Given the description of an element on the screen output the (x, y) to click on. 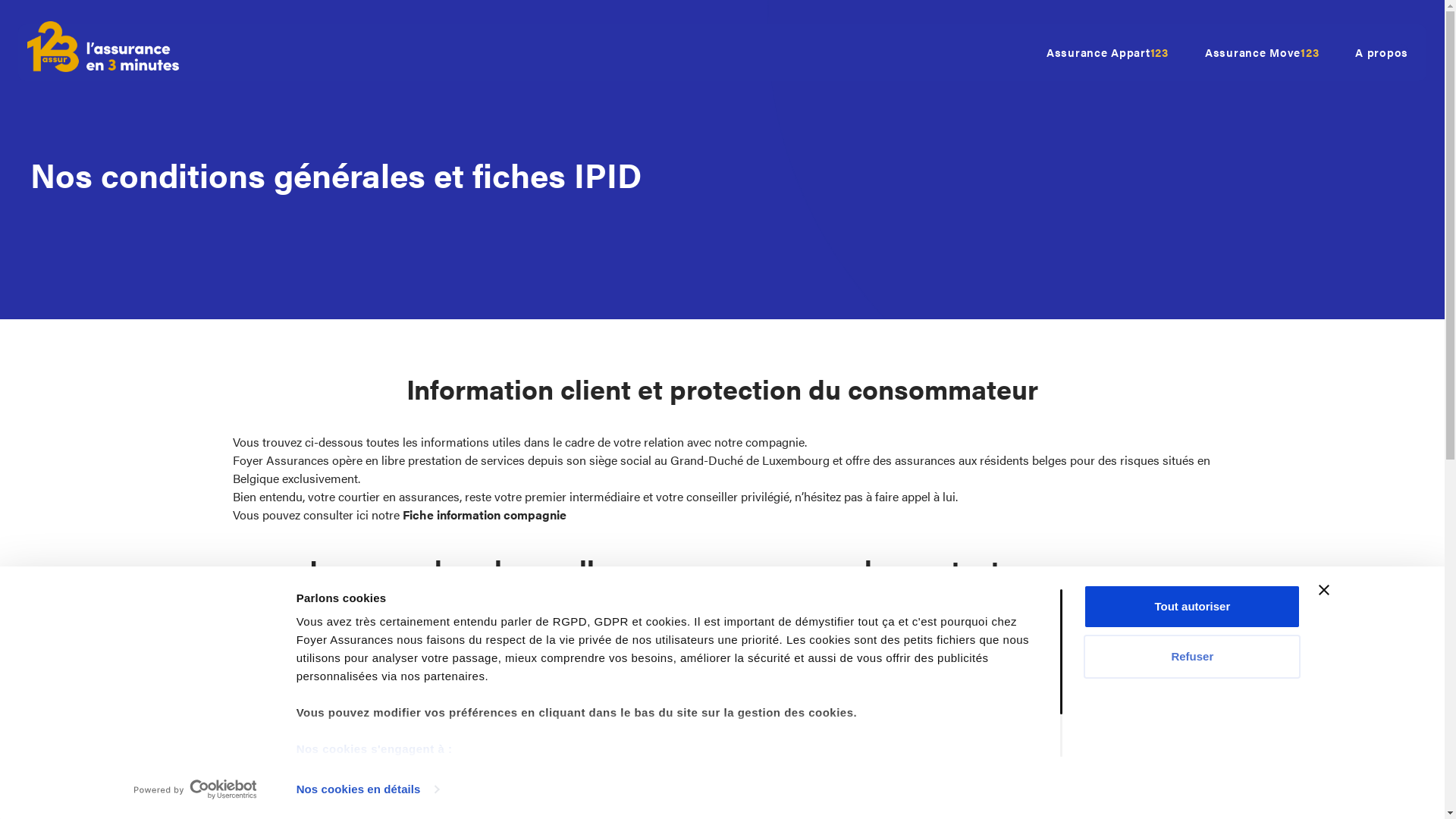
Tout autoriser Element type: text (1191, 606)
Assurance
Move
123 Element type: text (1261, 52)
Refuser Element type: text (1191, 655)
Fiche information compagnie Element type: text (483, 513)
A
propos Element type: text (1381, 52)
Assurance
Appart
123 Element type: text (1107, 52)
